Given the description of an element on the screen output the (x, y) to click on. 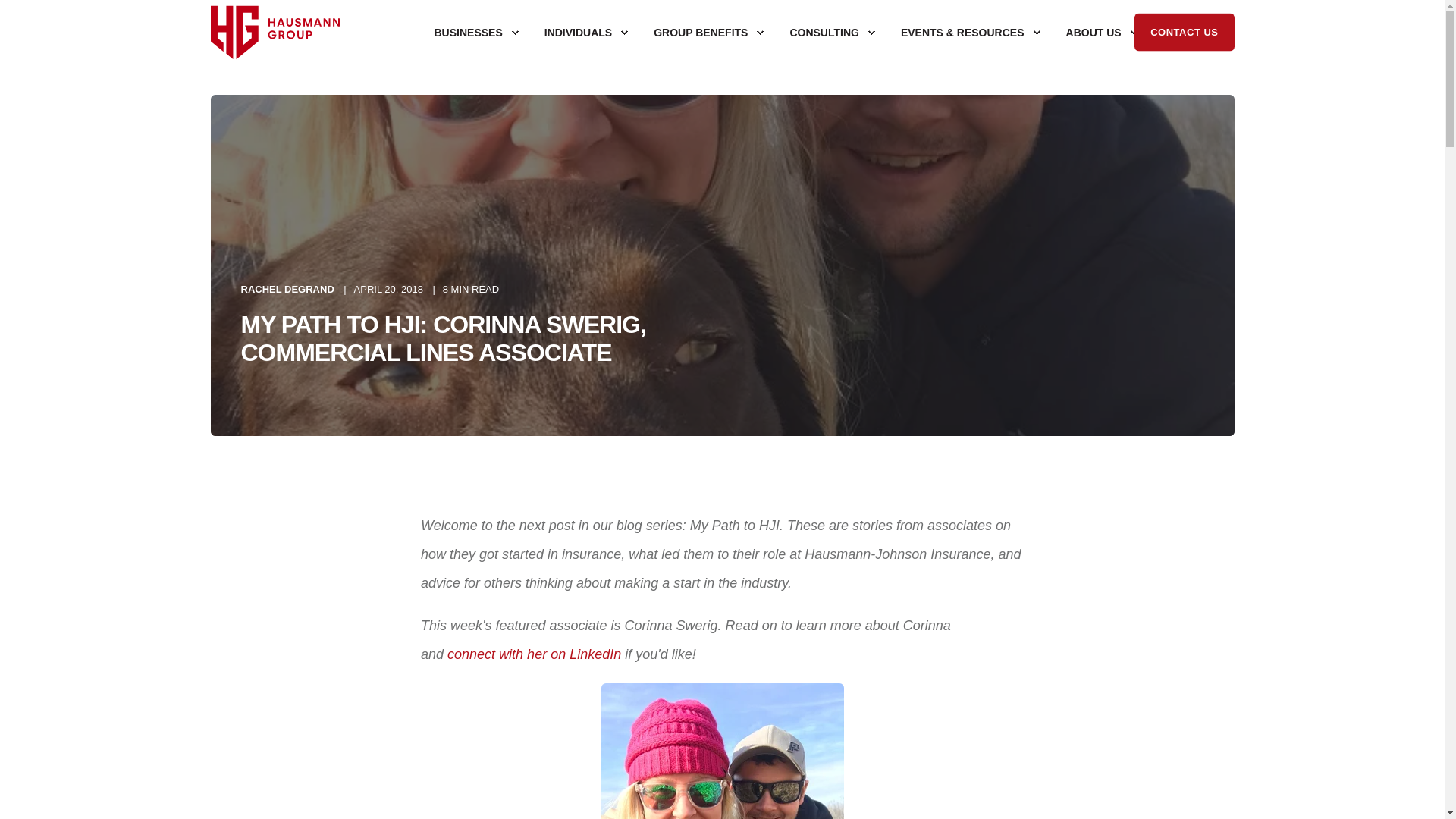
Button Contact Us (1183, 32)
